Given the description of an element on the screen output the (x, y) to click on. 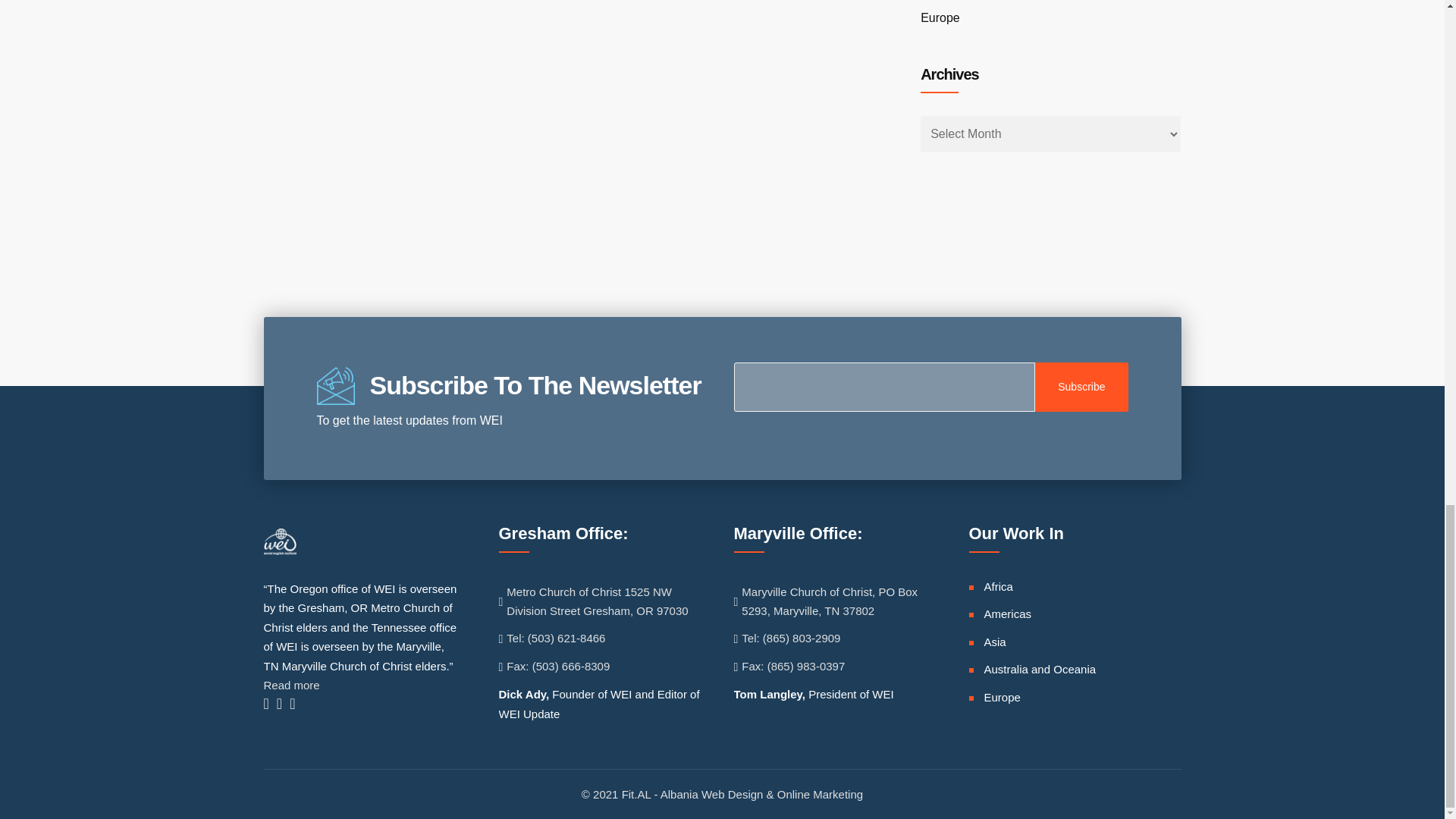
Subscribe (1080, 386)
